Given the description of an element on the screen output the (x, y) to click on. 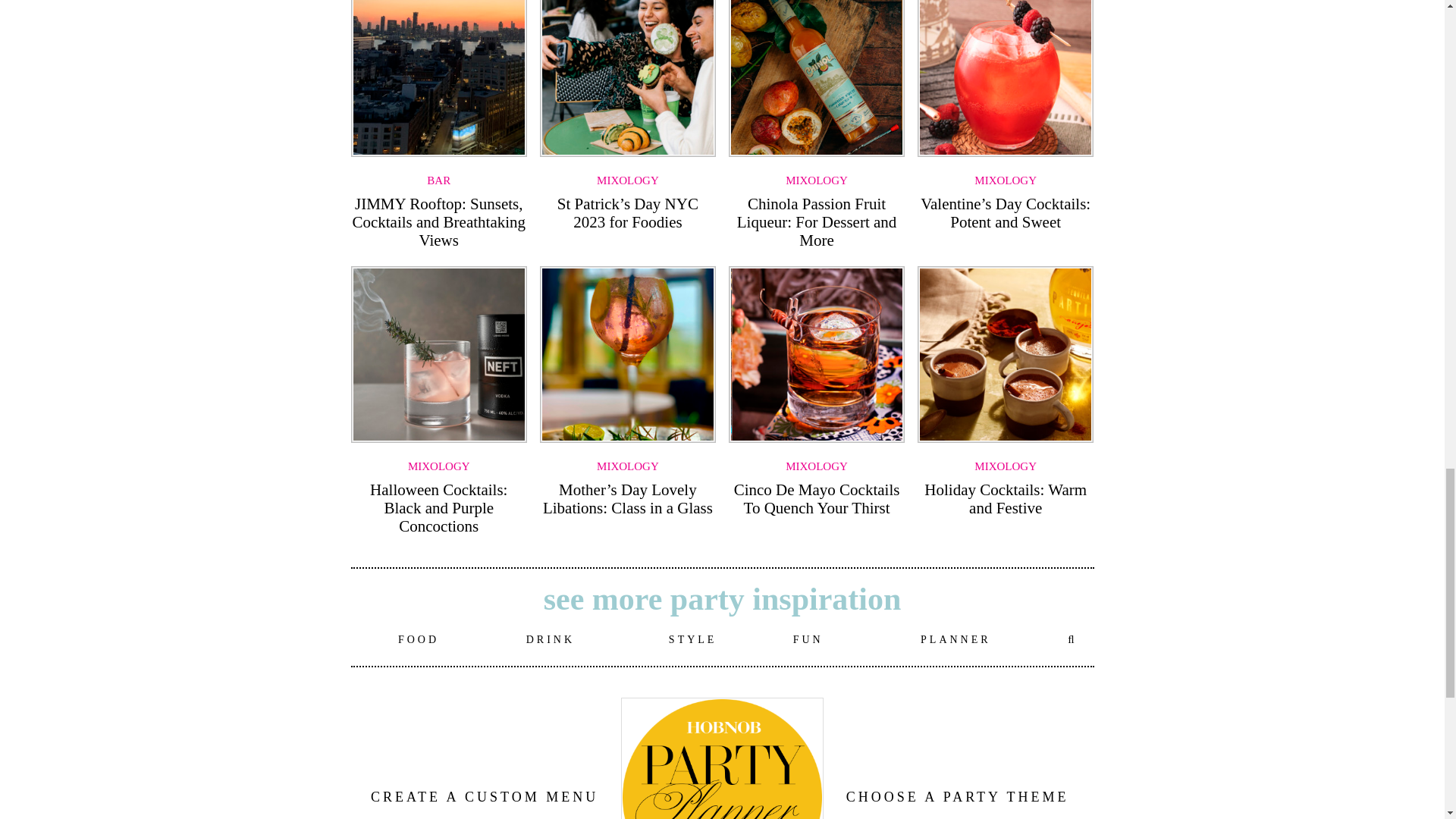
Chinola Passion Fruit Liqueur: For Dessert and More (816, 221)
Halloween Cocktails: Black and Purple Concoctions (437, 507)
Cinco De Mayo Cocktails To Quench Your Thirst (816, 498)
JIMMY Rooftop: Sunsets, Cocktails and Breathtaking Views (438, 221)
Holiday Cocktails: Warm and Festive (1005, 498)
